Given the description of an element on the screen output the (x, y) to click on. 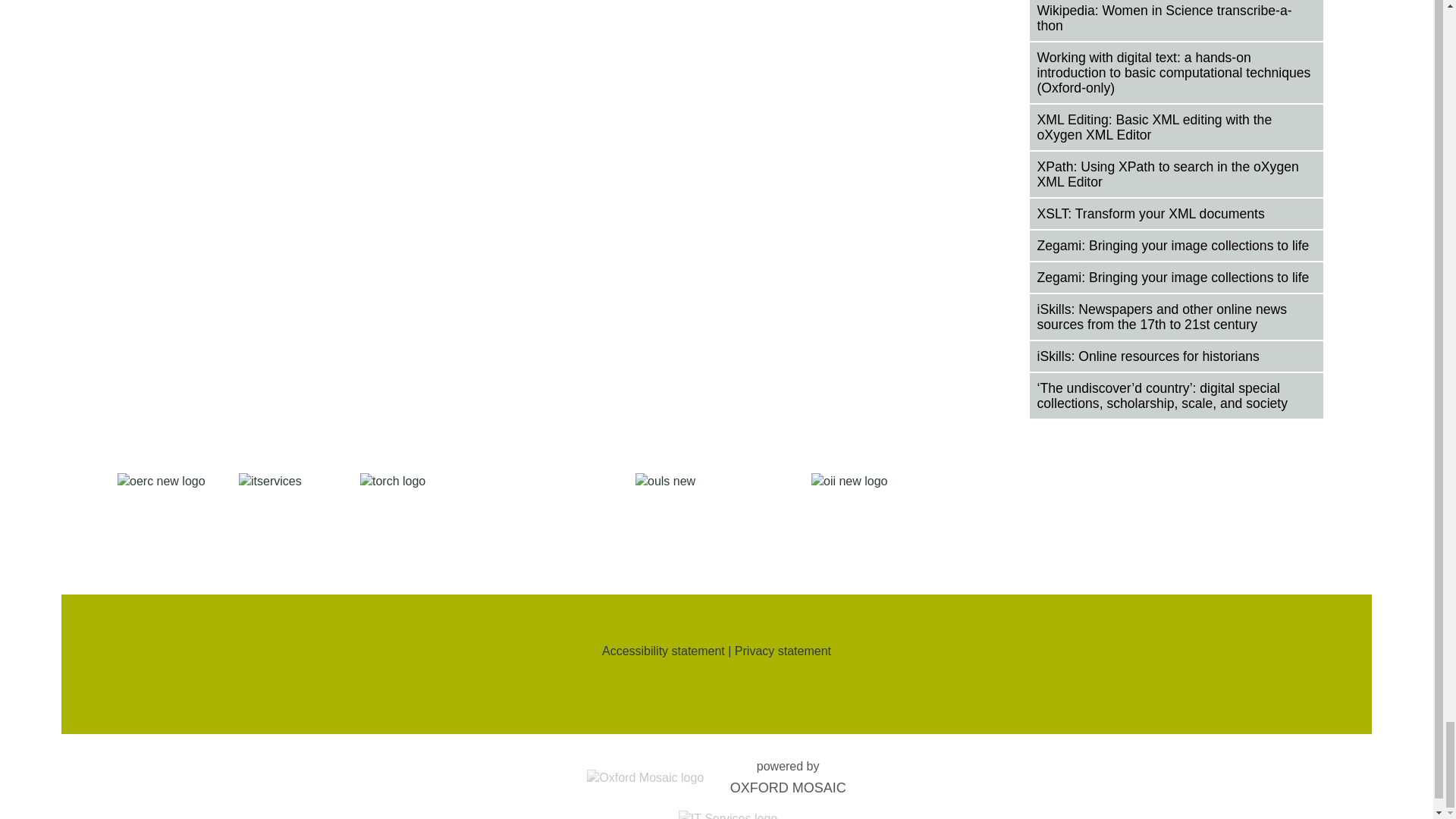
TORCH (482, 518)
IT Services (284, 518)
Oxford e-Research Centre (162, 518)
Bodleian Libraries (707, 518)
Oxford Internet Institute (856, 518)
